Given the description of an element on the screen output the (x, y) to click on. 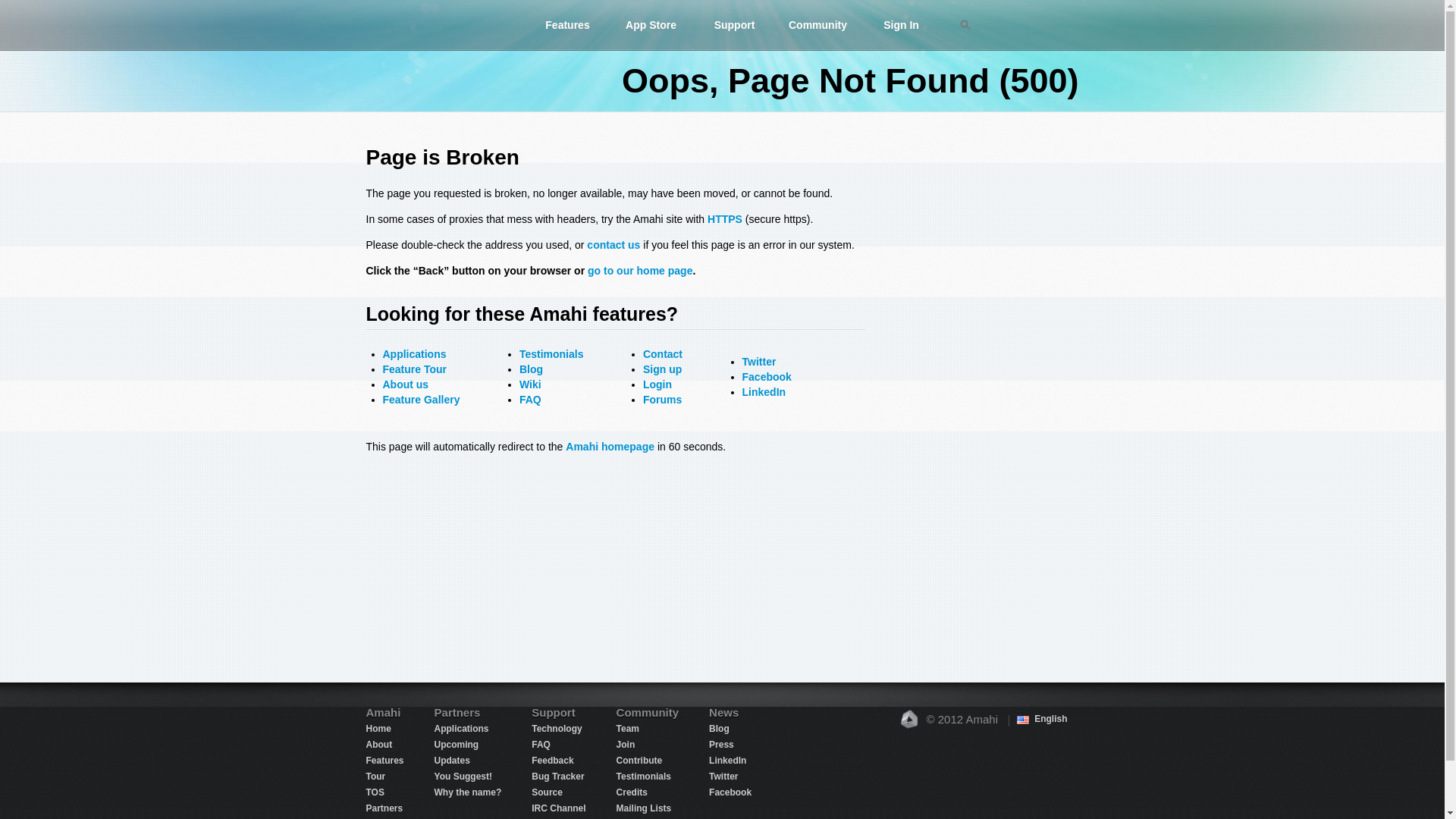
Support (734, 24)
HTTPS (724, 218)
Amahi (437, 23)
Testimonials (551, 354)
Features (567, 24)
About us (404, 384)
Community (818, 24)
Forums (662, 399)
Login (657, 384)
Wiki (530, 384)
